Given the description of an element on the screen output the (x, y) to click on. 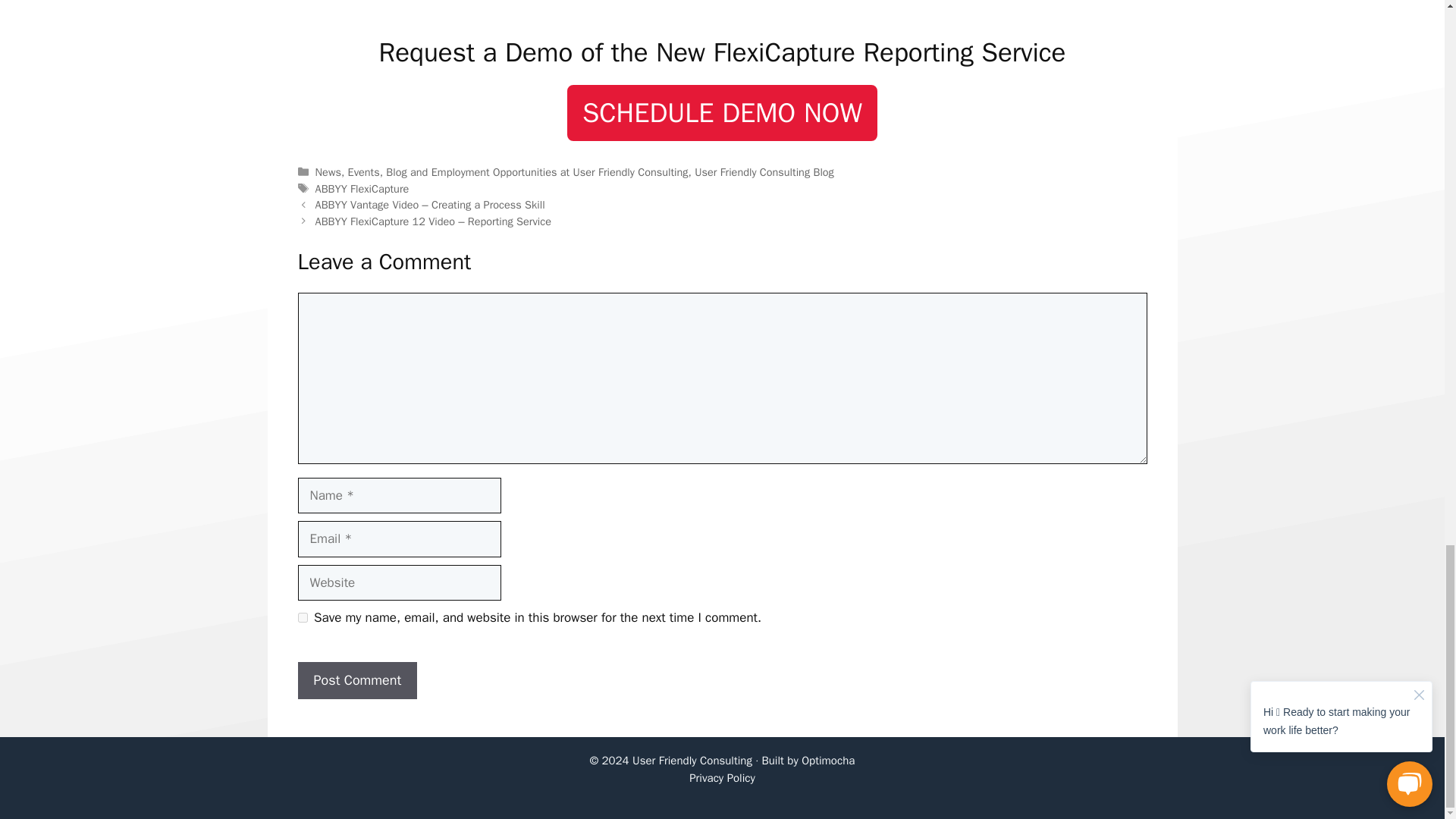
yes (302, 617)
Post Comment (356, 680)
ABBYY FlexiCapture 12 - Reporting Service (722, 8)
